Given the description of an element on the screen output the (x, y) to click on. 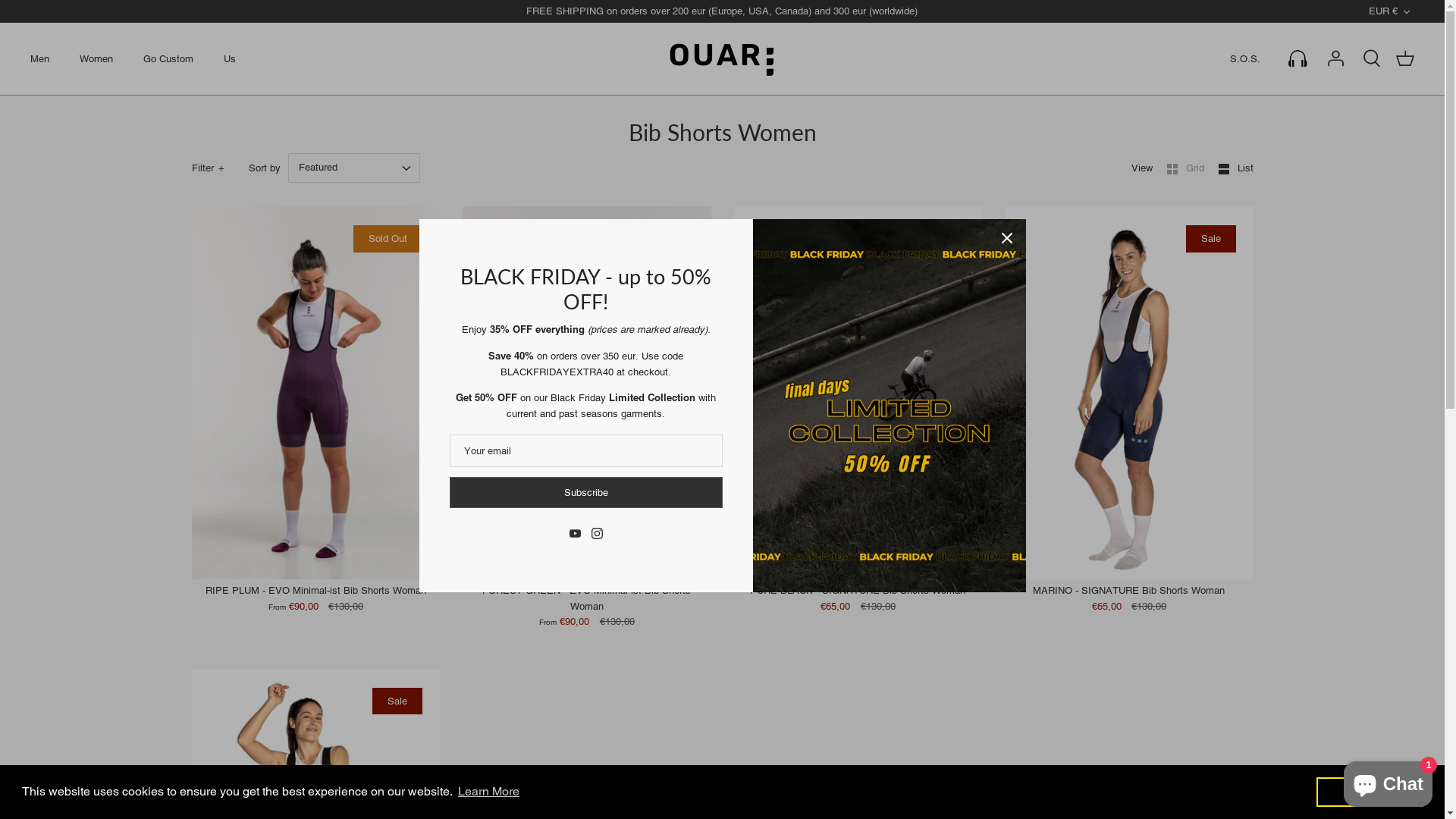
Shopify online store chat Element type: hover (1388, 780)
Filter + Element type: text (208, 167)
Learn More Element type: text (488, 791)
Sale Element type: text (858, 392)
Sold Out Element type: text (586, 392)
Women Element type: text (95, 58)
Subscribe Element type: text (584, 492)
OUAR... Element type: hover (722, 58)
Sold Out Element type: text (315, 392)
Us Element type: text (229, 58)
Grid Element type: text (1186, 167)
Sale Element type: text (1128, 392)
Go Custom Element type: text (168, 58)
Got it! Element type: text (1369, 791)
S.O.S. Element type: text (1245, 58)
List Element type: text (1234, 167)
Men Element type: text (39, 58)
